Given the description of an element on the screen output the (x, y) to click on. 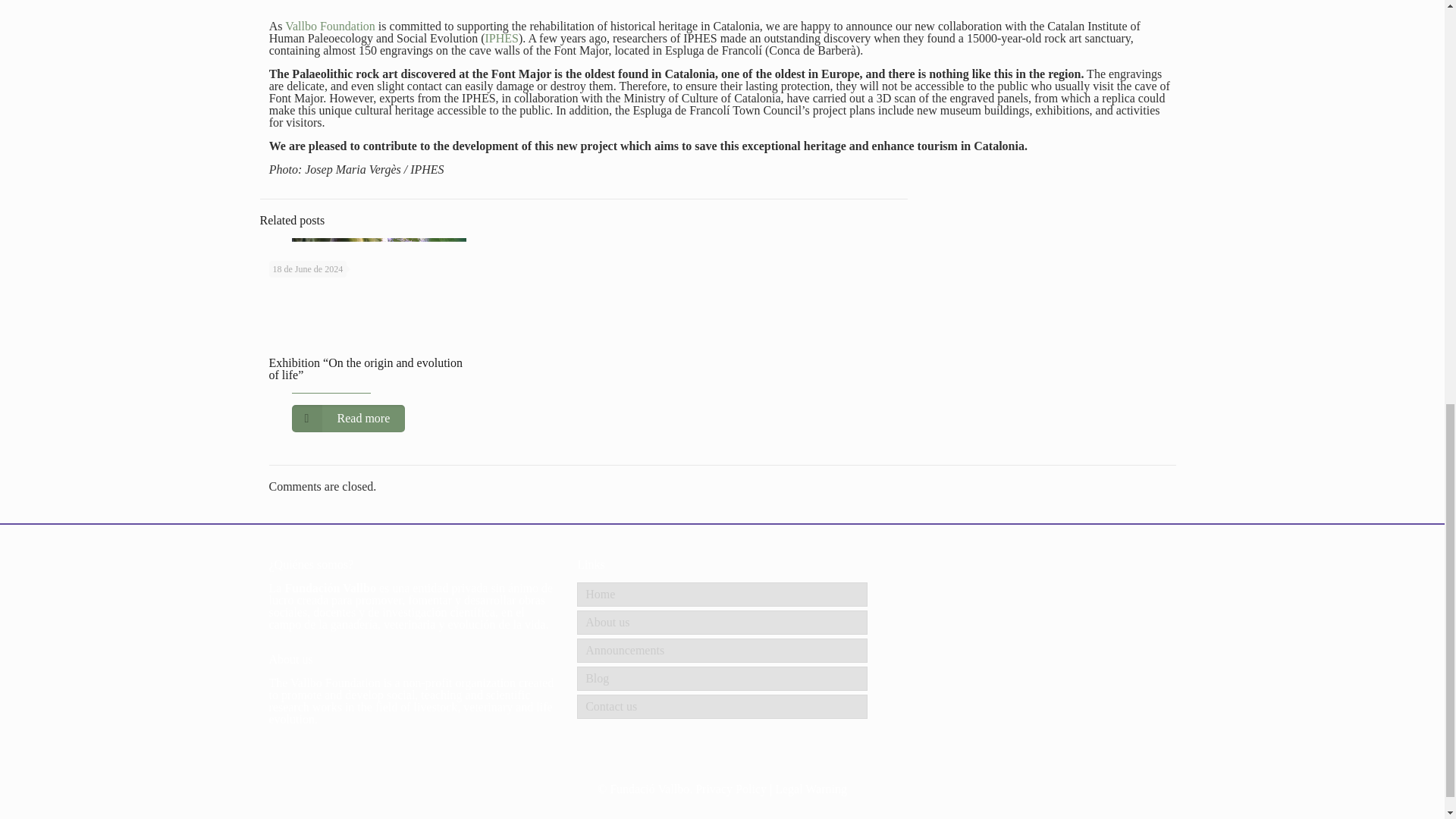
Read more (347, 418)
IPHES (501, 38)
Home (721, 594)
Announcements (721, 650)
About us (721, 622)
Blog (721, 678)
Legal Warning (810, 788)
Privacy Policy (731, 788)
Vallbo Foundation (330, 25)
Contact us (721, 706)
